Given the description of an element on the screen output the (x, y) to click on. 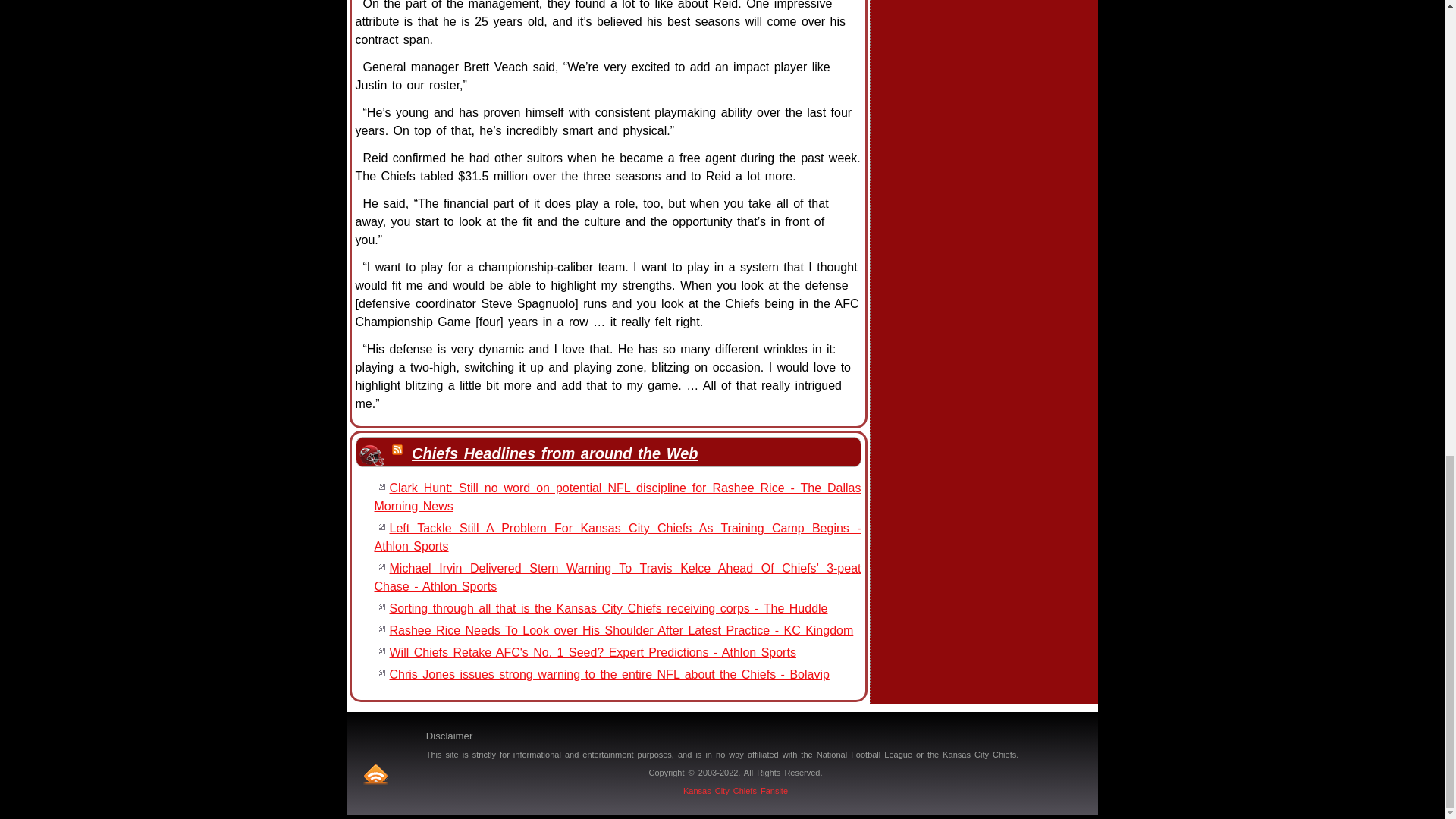
Kansas City Chiefs Fansite (734, 790)
Chiefs Headlines from around the Web (554, 453)
ChiefsCrowd.com - A Kansas City Chiefs Fansite RSS Feed (375, 773)
